Given the description of an element on the screen output the (x, y) to click on. 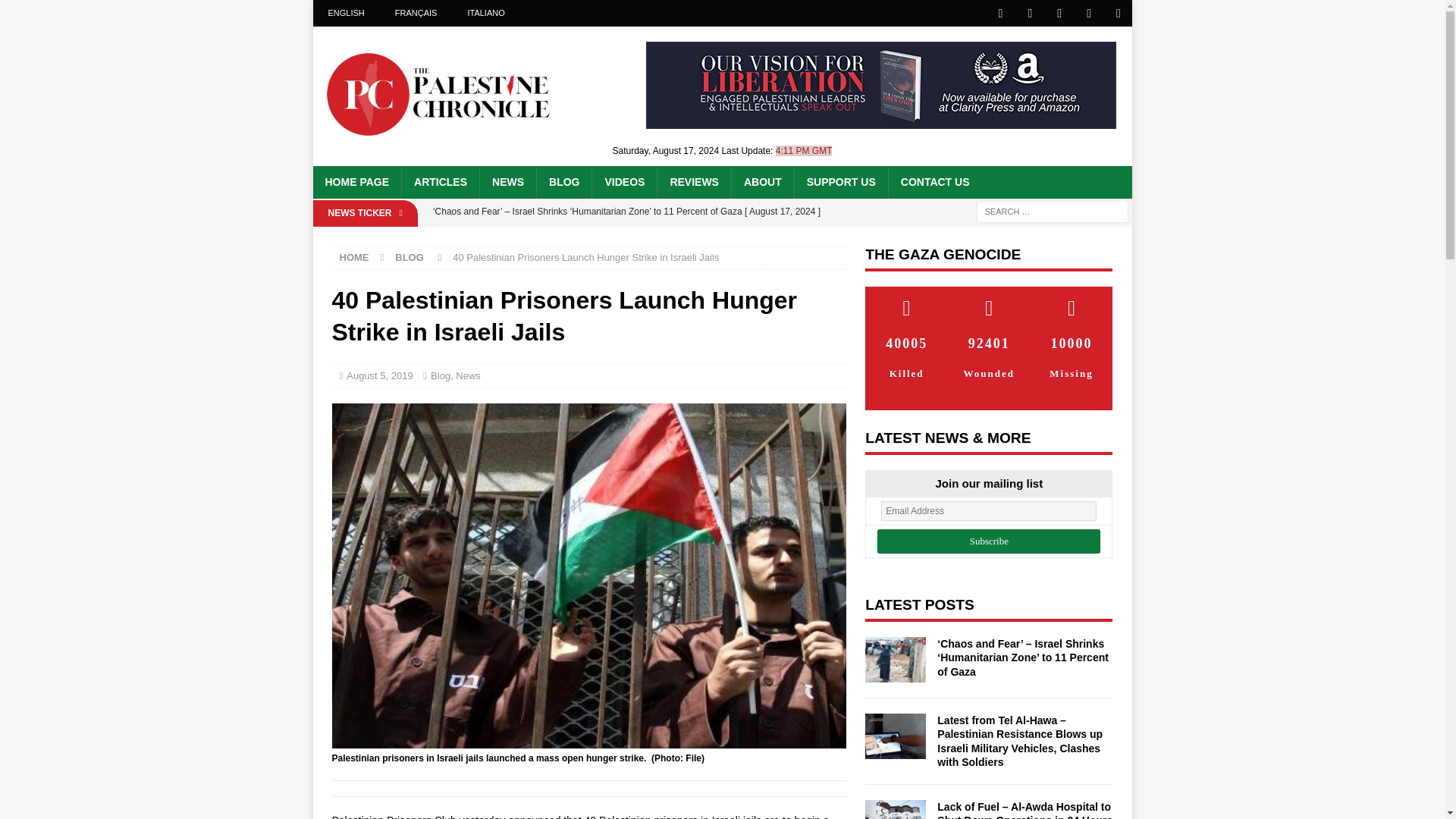
HOME (354, 256)
CONTACT US (934, 182)
HOME PAGE (357, 182)
Search (56, 11)
BLOG (563, 182)
ARTICLES (440, 182)
ABOUT (761, 182)
NEWS (507, 182)
SUPPORT US (840, 182)
